Given the description of an element on the screen output the (x, y) to click on. 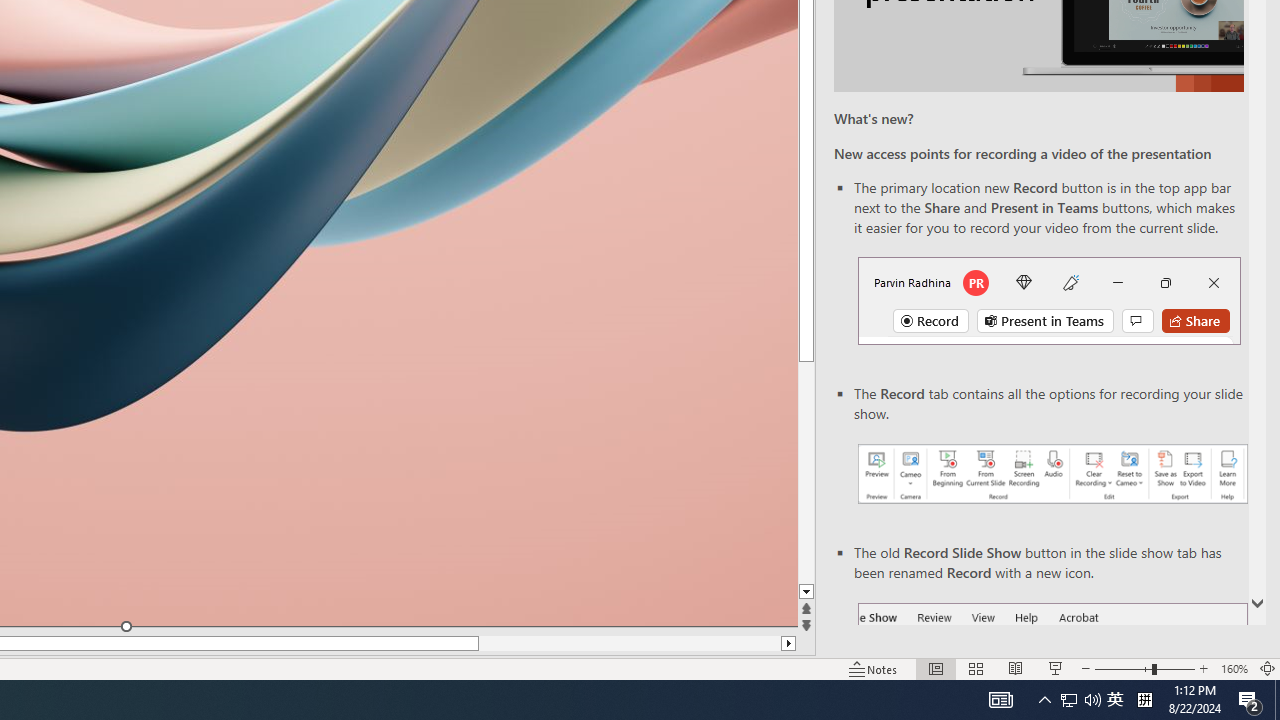
Record your presentations screenshot one (1052, 473)
